Given the description of an element on the screen output the (x, y) to click on. 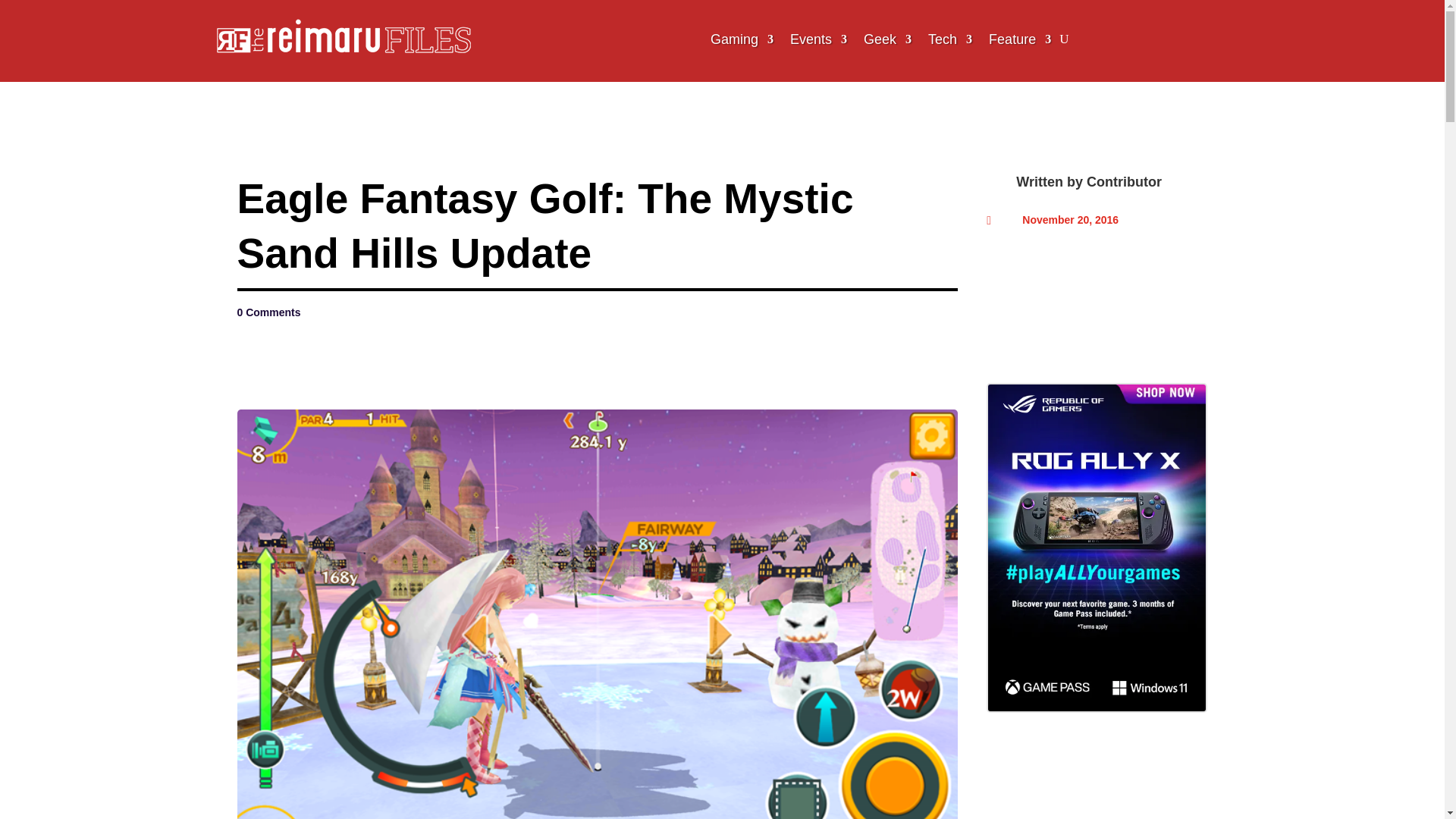
0 Comments (267, 312)
Feature (1019, 38)
Contributor (1123, 181)
Events (818, 38)
Gaming (741, 38)
